Given the description of an element on the screen output the (x, y) to click on. 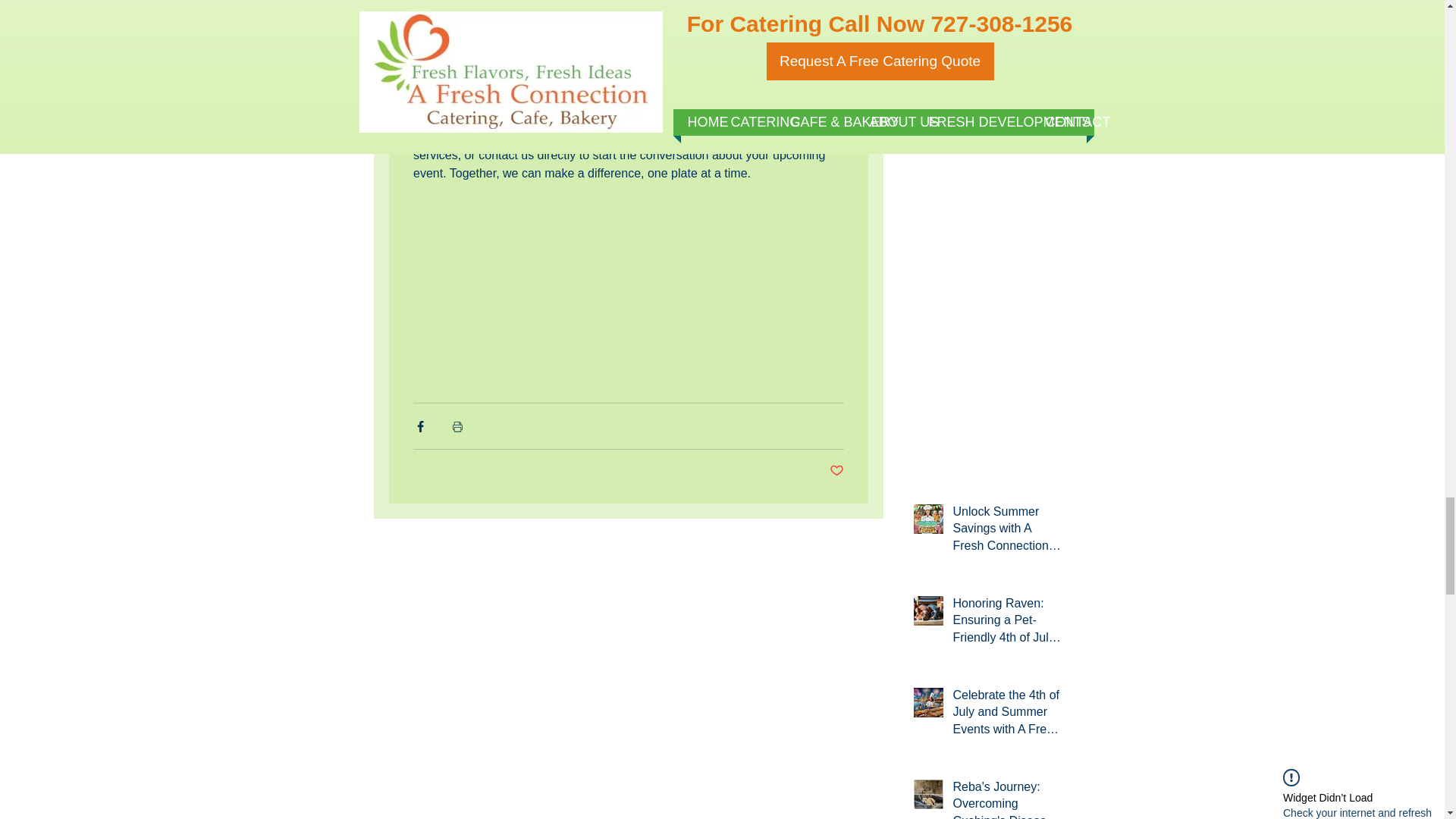
Post not marked as liked (836, 471)
www.afreshconnection.com (591, 136)
